Given the description of an element on the screen output the (x, y) to click on. 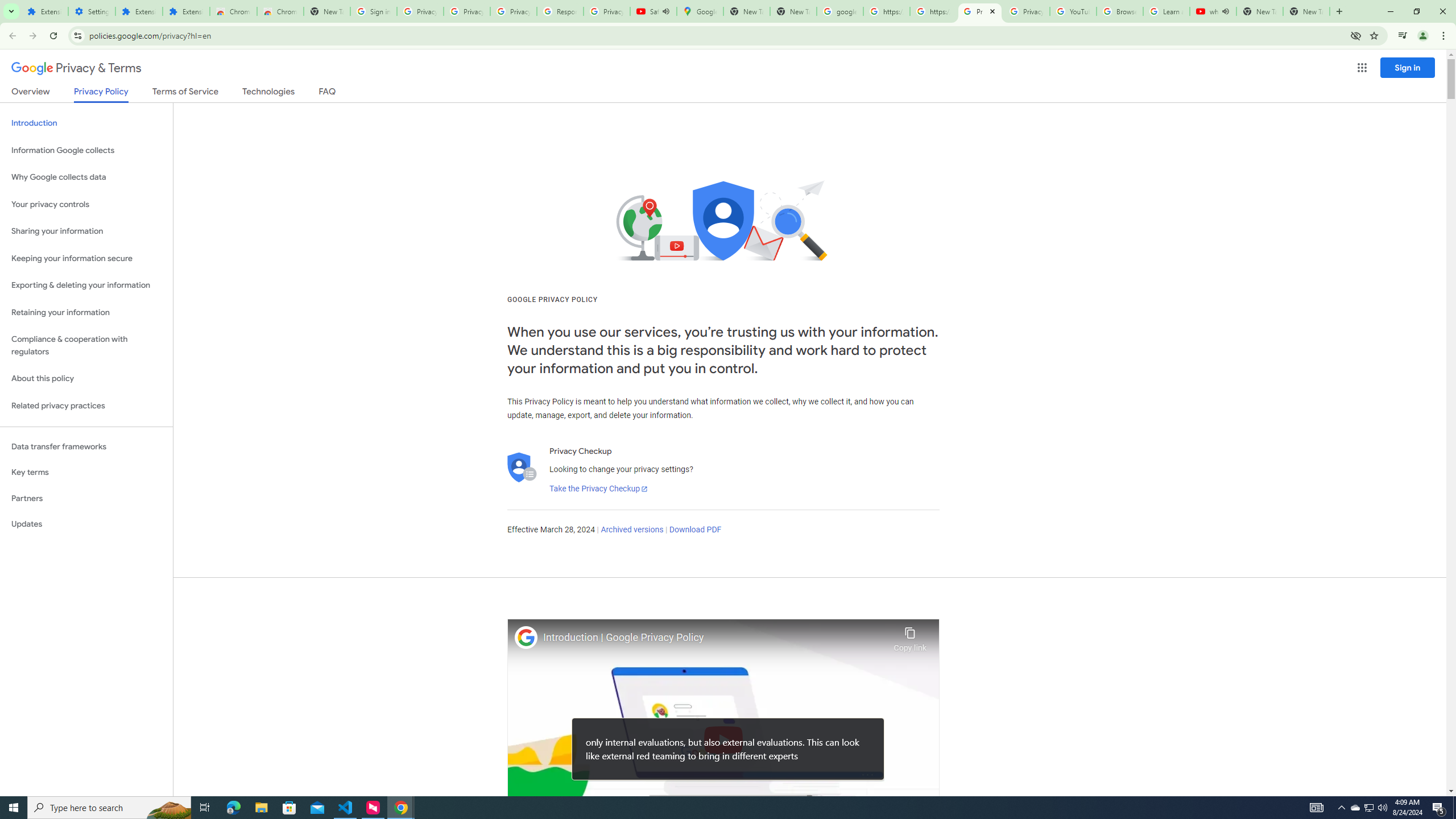
Keeping your information secure (86, 258)
Extensions (186, 11)
https://scholar.google.com/ (886, 11)
Introduction | Google Privacy Policy (715, 637)
Introduction (86, 122)
